Given the description of an element on the screen output the (x, y) to click on. 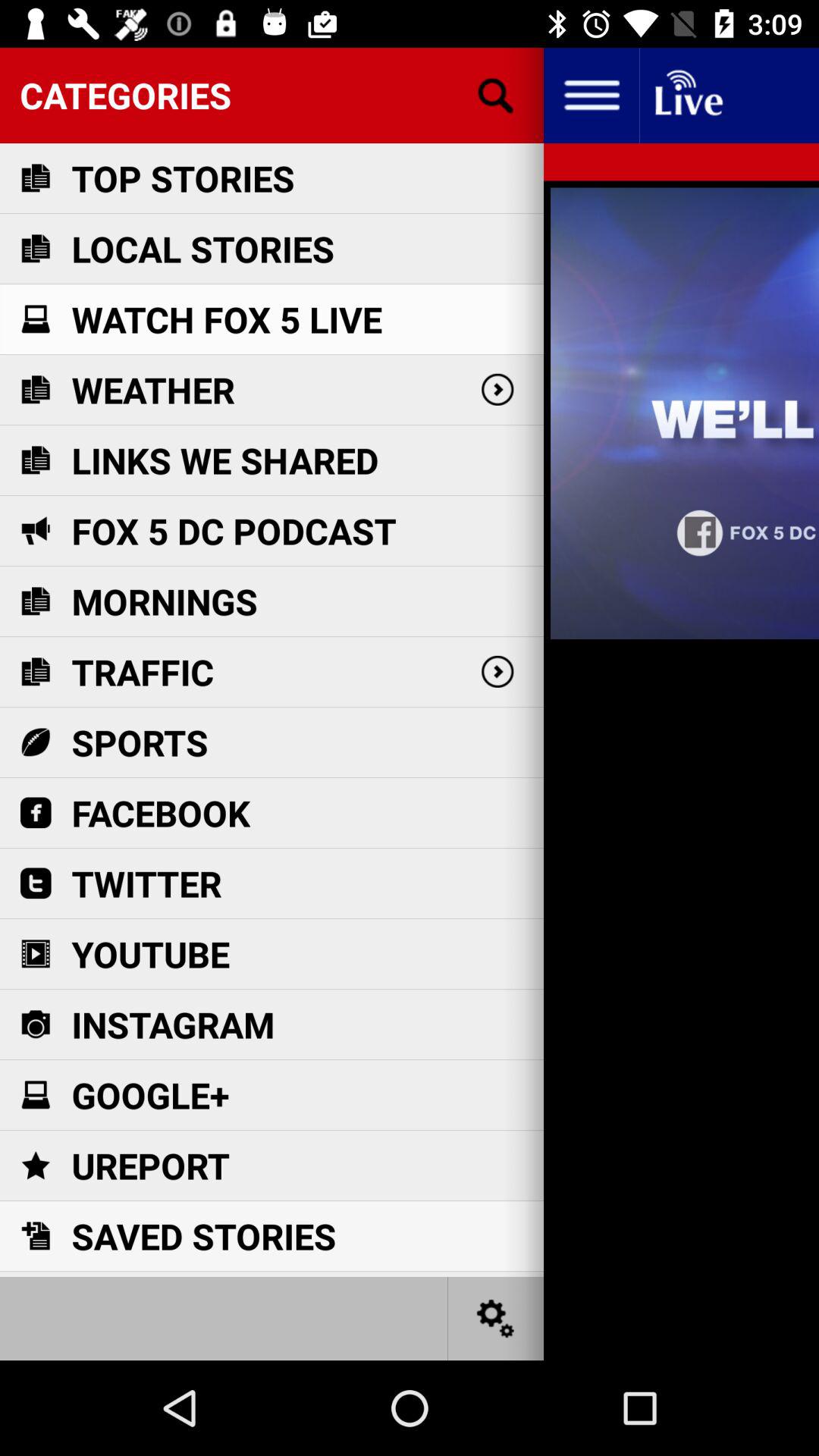
make searching on categories (495, 95)
